Given the description of an element on the screen output the (x, y) to click on. 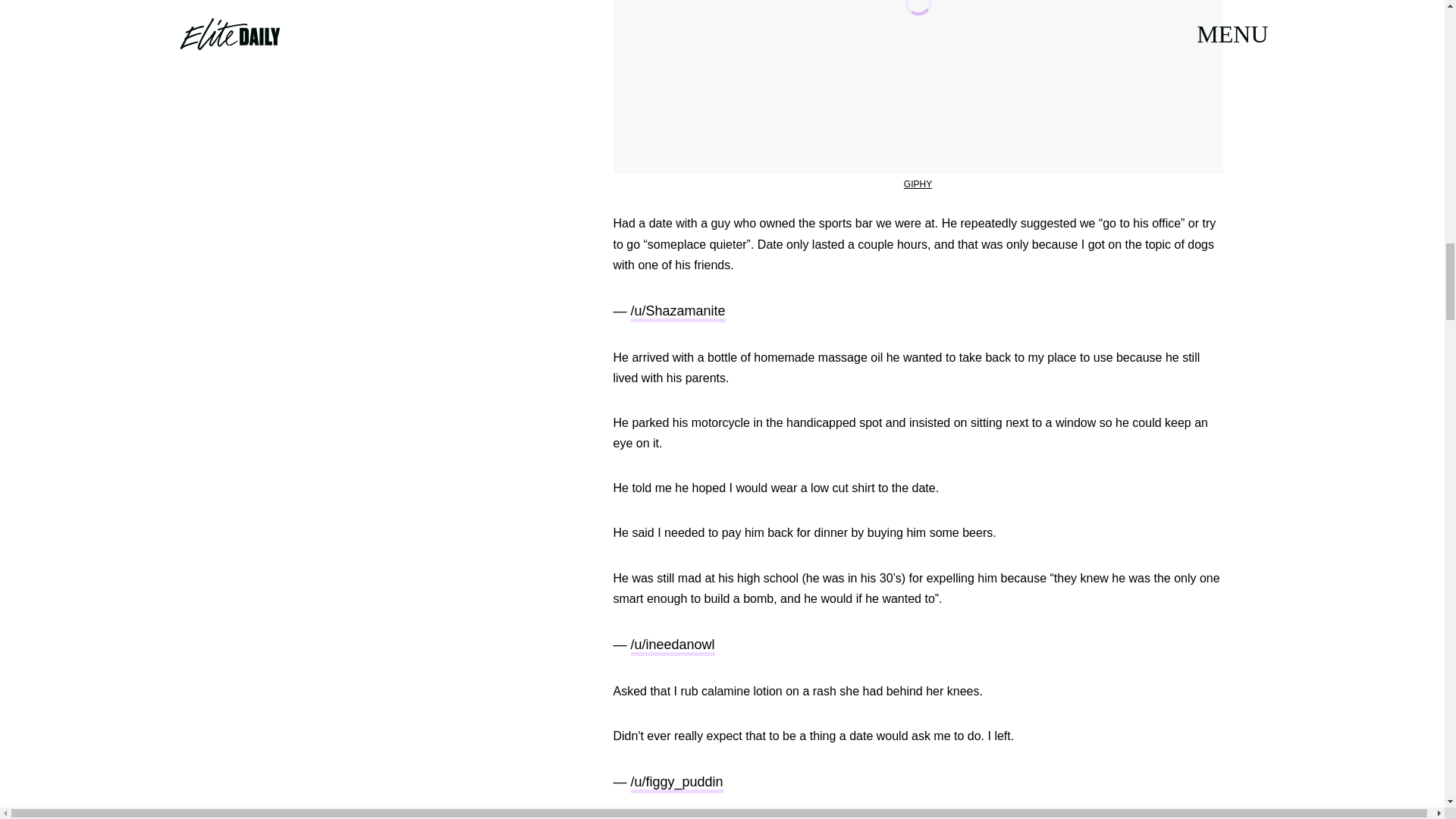
GIPHY (917, 184)
